Given the description of an element on the screen output the (x, y) to click on. 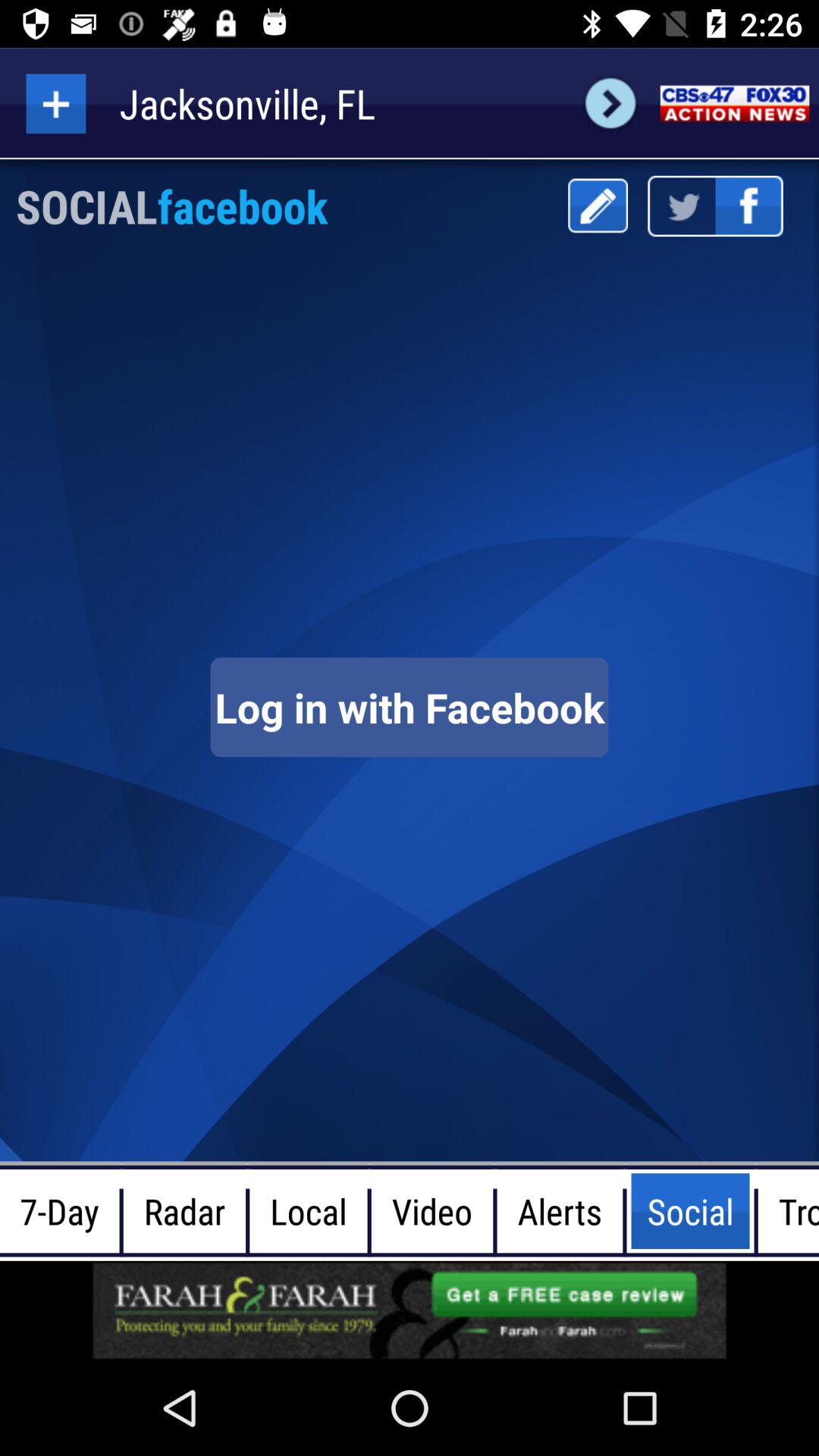
login with facebook (409, 707)
